Given the description of an element on the screen output the (x, y) to click on. 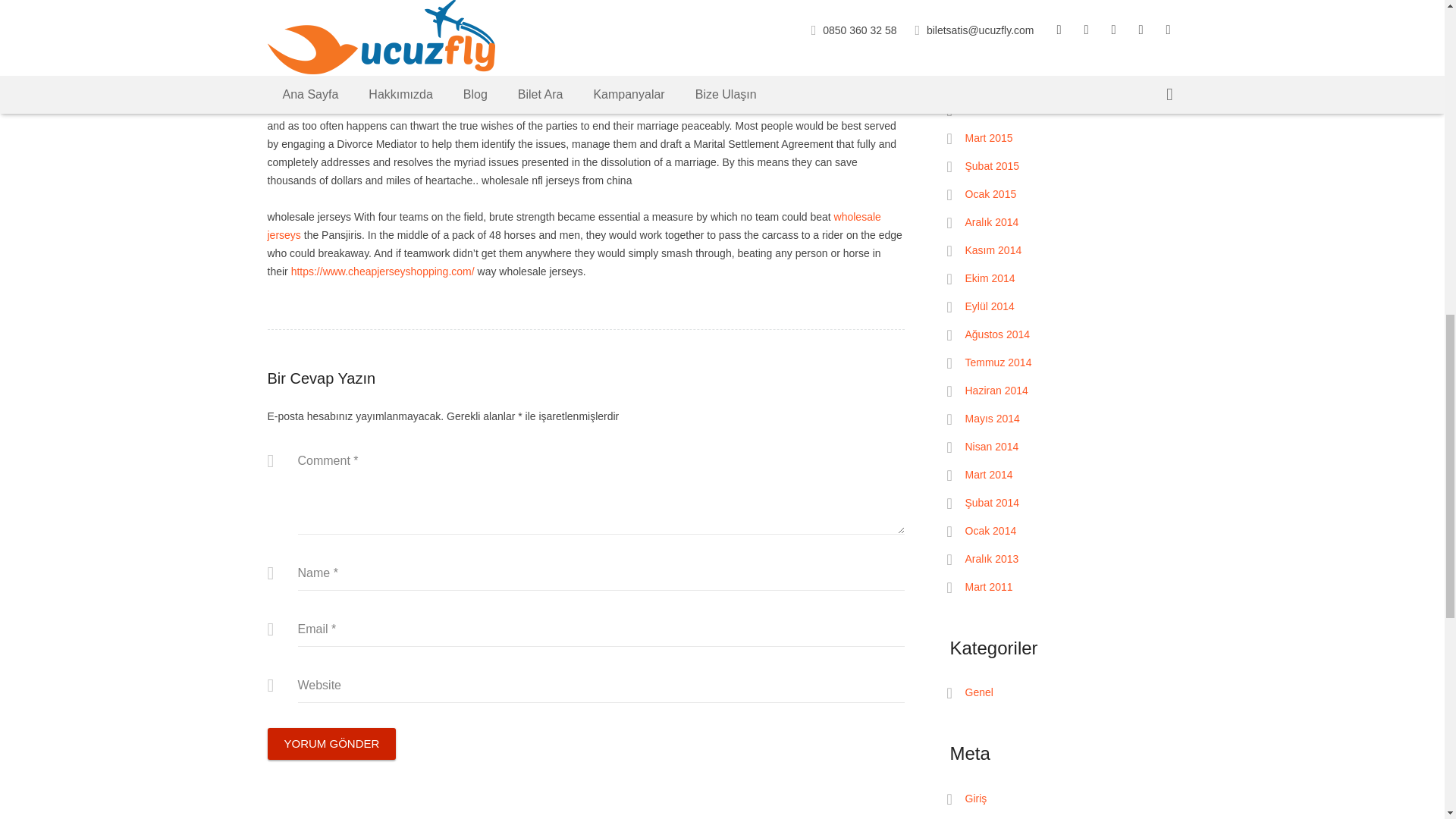
wholesale jerseys (573, 225)
Temmuz 2015 (996, 25)
Haziran 2015 (995, 53)
Back to top (1411, 21)
Mart 2015 (987, 137)
Nisan 2015 (990, 110)
